Given the description of an element on the screen output the (x, y) to click on. 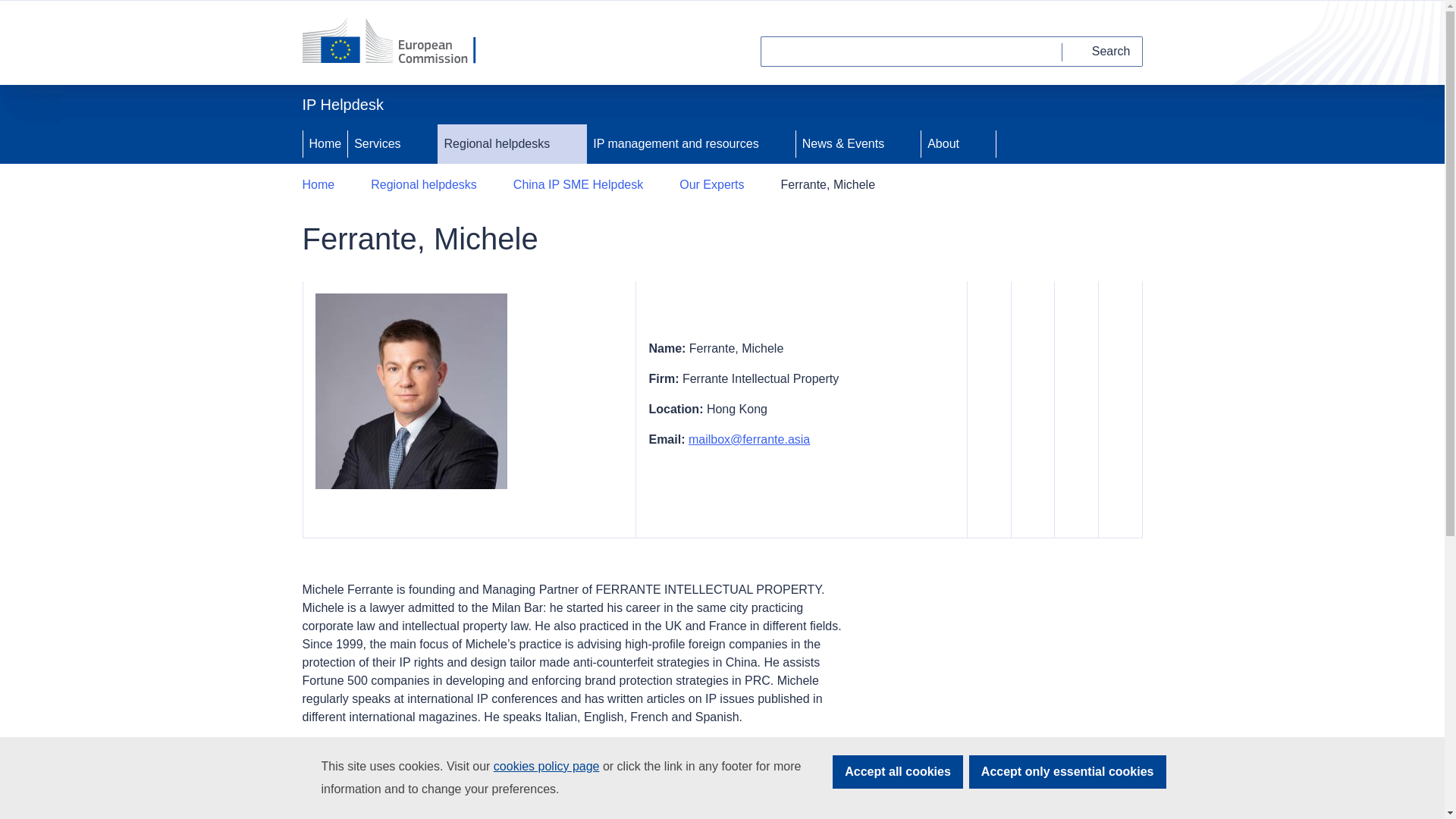
cookies policy page (546, 766)
Search (1102, 51)
IP management and resources (673, 143)
Home (324, 143)
Accept all cookies (897, 771)
Regional helpdesks (495, 143)
Services (375, 143)
European Commission (399, 42)
Accept only essential cookies (1067, 771)
